Given the description of an element on the screen output the (x, y) to click on. 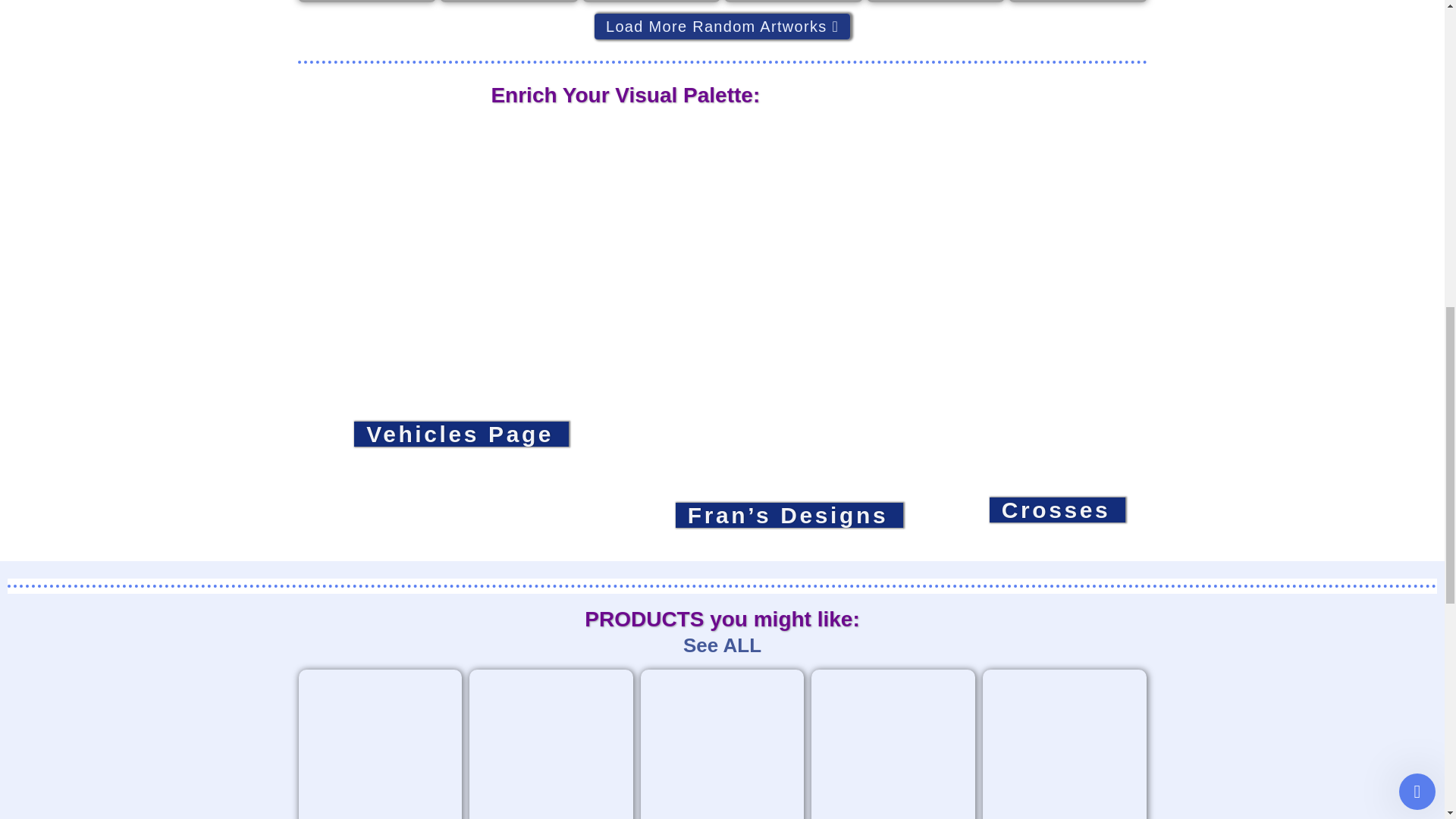
Spraypaint Wall Art (508, 1)
Guestbook Tree (793, 1)
WP Draw a Bird Day (1078, 1)
Stenciled Journal Prompt (651, 1)
4-color abstract landscape (366, 1)
testing Inktense pencils (935, 1)
